Given the description of an element on the screen output the (x, y) to click on. 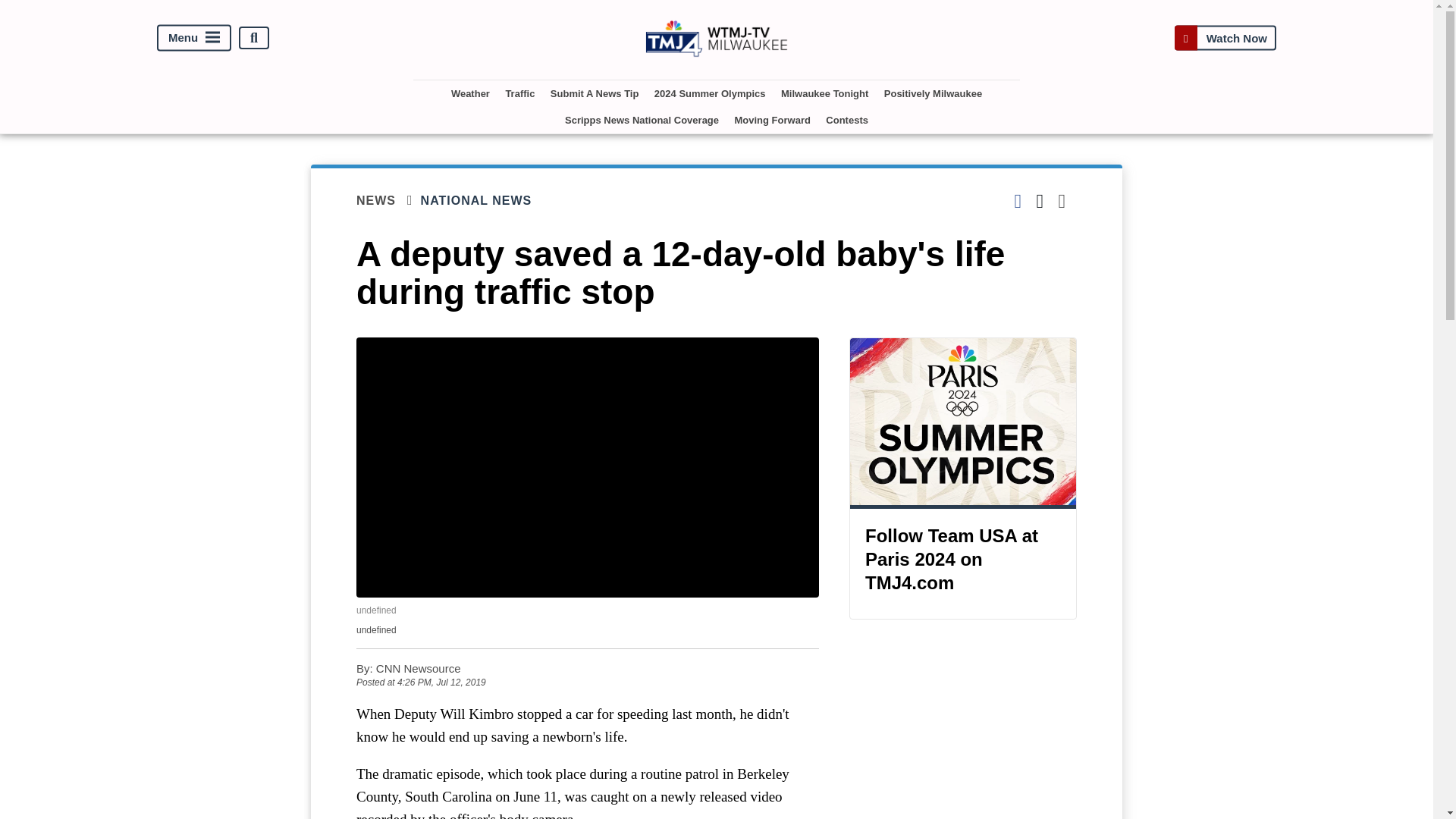
Menu (194, 38)
Watch Now (1224, 38)
